Given the description of an element on the screen output the (x, y) to click on. 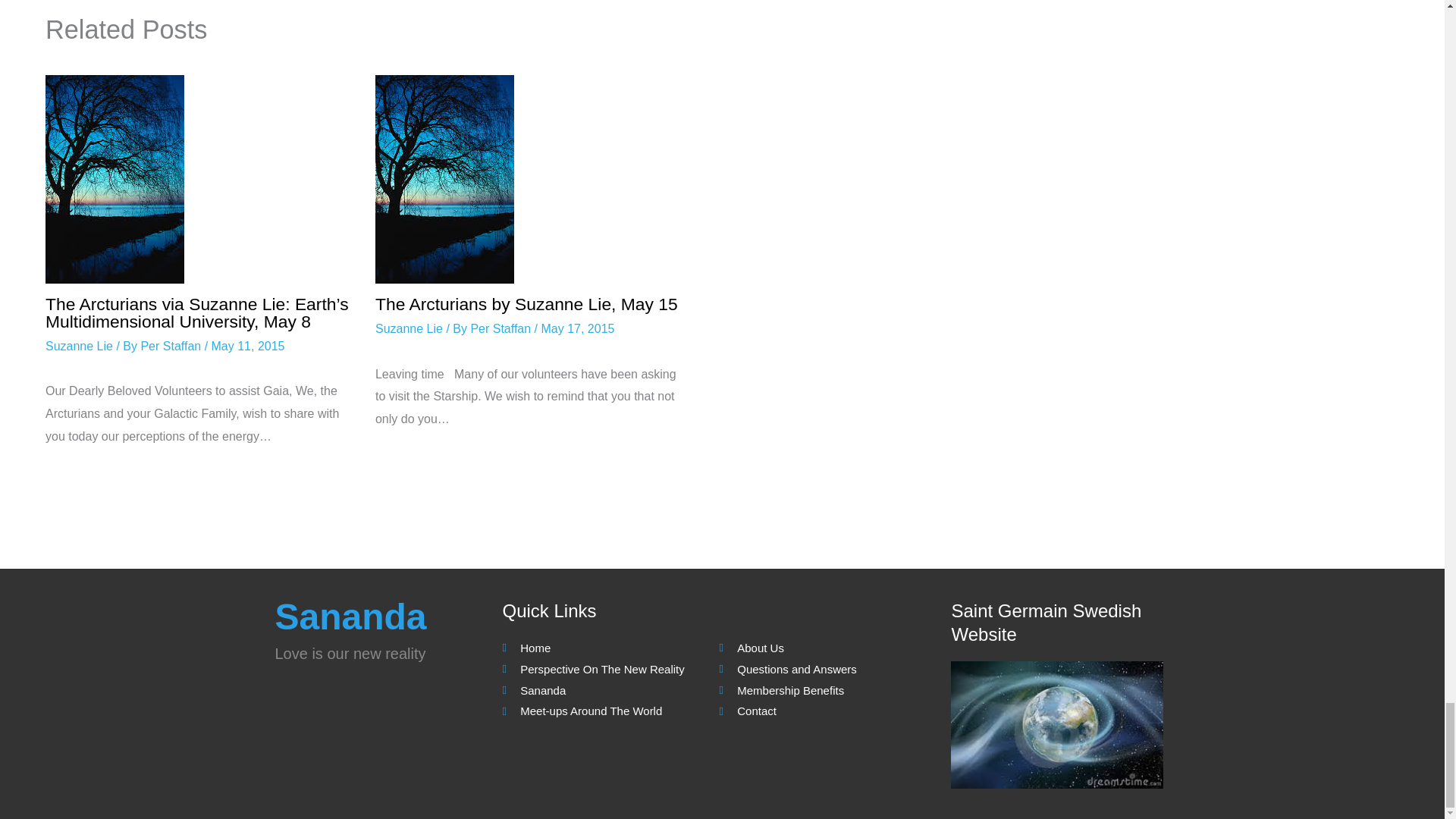
Per Staffan (502, 328)
View all posts by Per Staffan (502, 328)
The Arcturians by Suzanne Lie, May 15 (526, 303)
View all posts by Per Staffan (171, 345)
Suzanne Lie (79, 345)
Per Staffan (171, 345)
Suzanne Lie (408, 328)
